Given the description of an element on the screen output the (x, y) to click on. 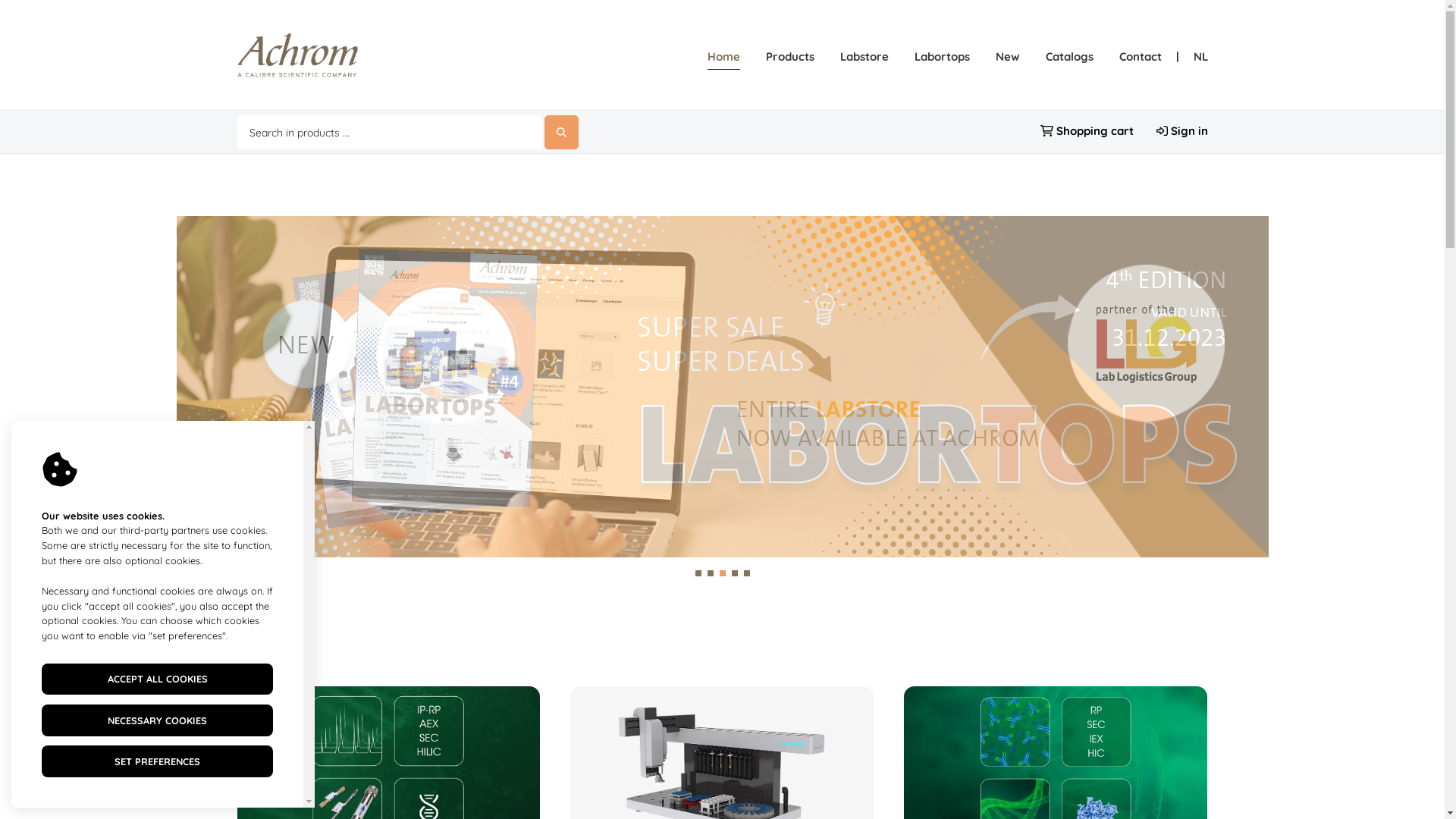
ACCEPT ALL COOKIES Element type: text (157, 679)
4 Element type: text (734, 573)
NL Element type: text (1200, 56)
DigiVOL Syringe DEAL ! Element type: text (721, 386)
Labstore Element type: text (864, 56)
Contact Element type: text (1140, 56)
SET PREFERENCES Element type: text (157, 761)
NECESSARY COOKIES Element type: text (157, 720)
Shopping cart Element type: text (1086, 130)
5 Element type: text (746, 573)
1 Element type: text (697, 573)
Labortops Element type: text (941, 56)
Products Element type: text (789, 56)
2 Element type: text (709, 573)
New Element type: text (1006, 56)
Home Element type: text (722, 59)
3 Element type: text (721, 573)
Catalogs Element type: text (1068, 56)
Sign in Element type: text (1181, 130)
